Given the description of an element on the screen output the (x, y) to click on. 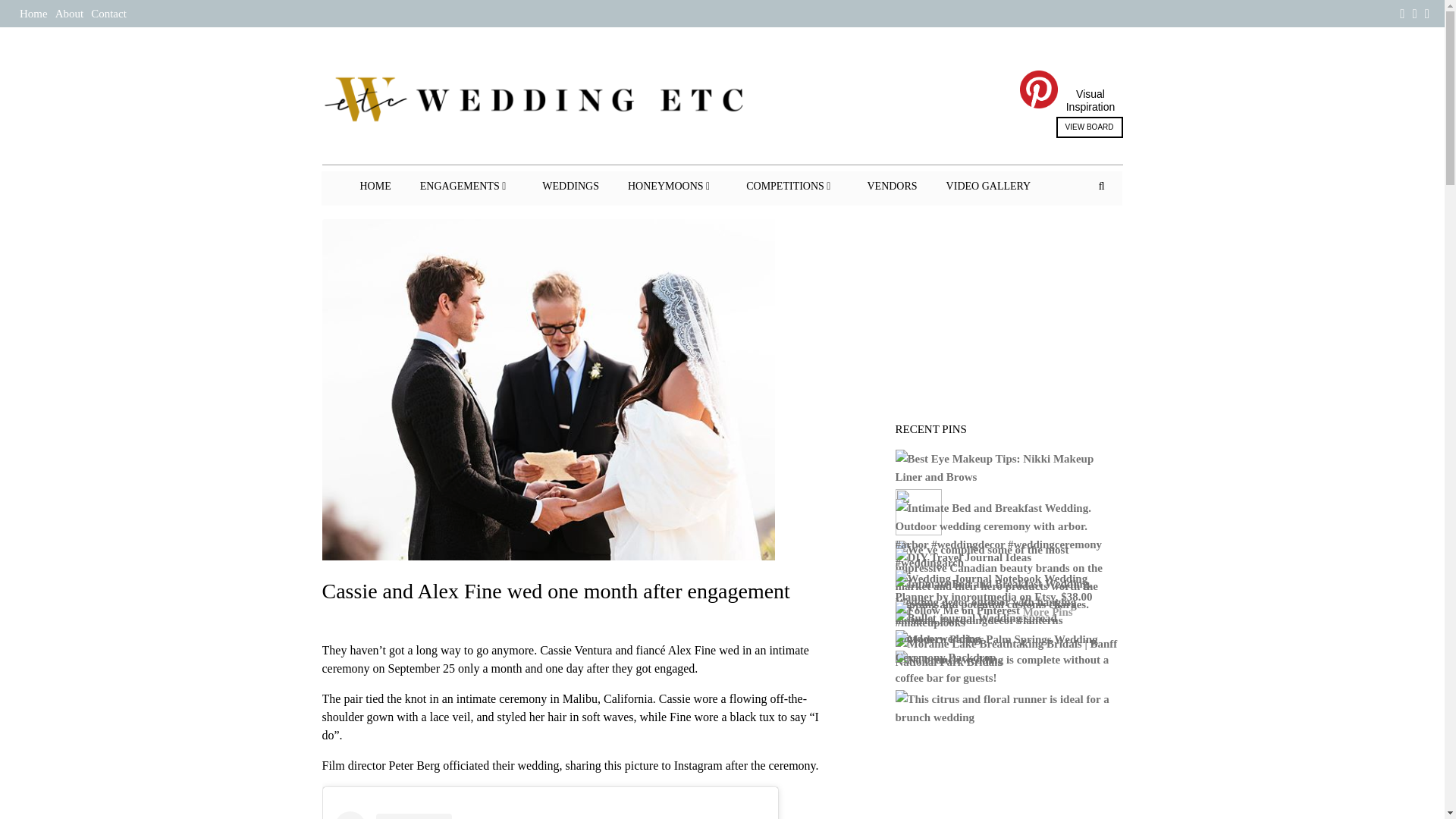
Contact (108, 13)
Cassie and Alex Fine wed one month after engagement (547, 555)
ENGAGEMENTS (466, 186)
This citrus and floral runner is ideal for a brunch wedding (1008, 709)
About (69, 13)
Home (34, 13)
HOME (375, 186)
DIY Travel Journal Ideas (964, 558)
VIEW BOARD (1089, 127)
